Given the description of an element on the screen output the (x, y) to click on. 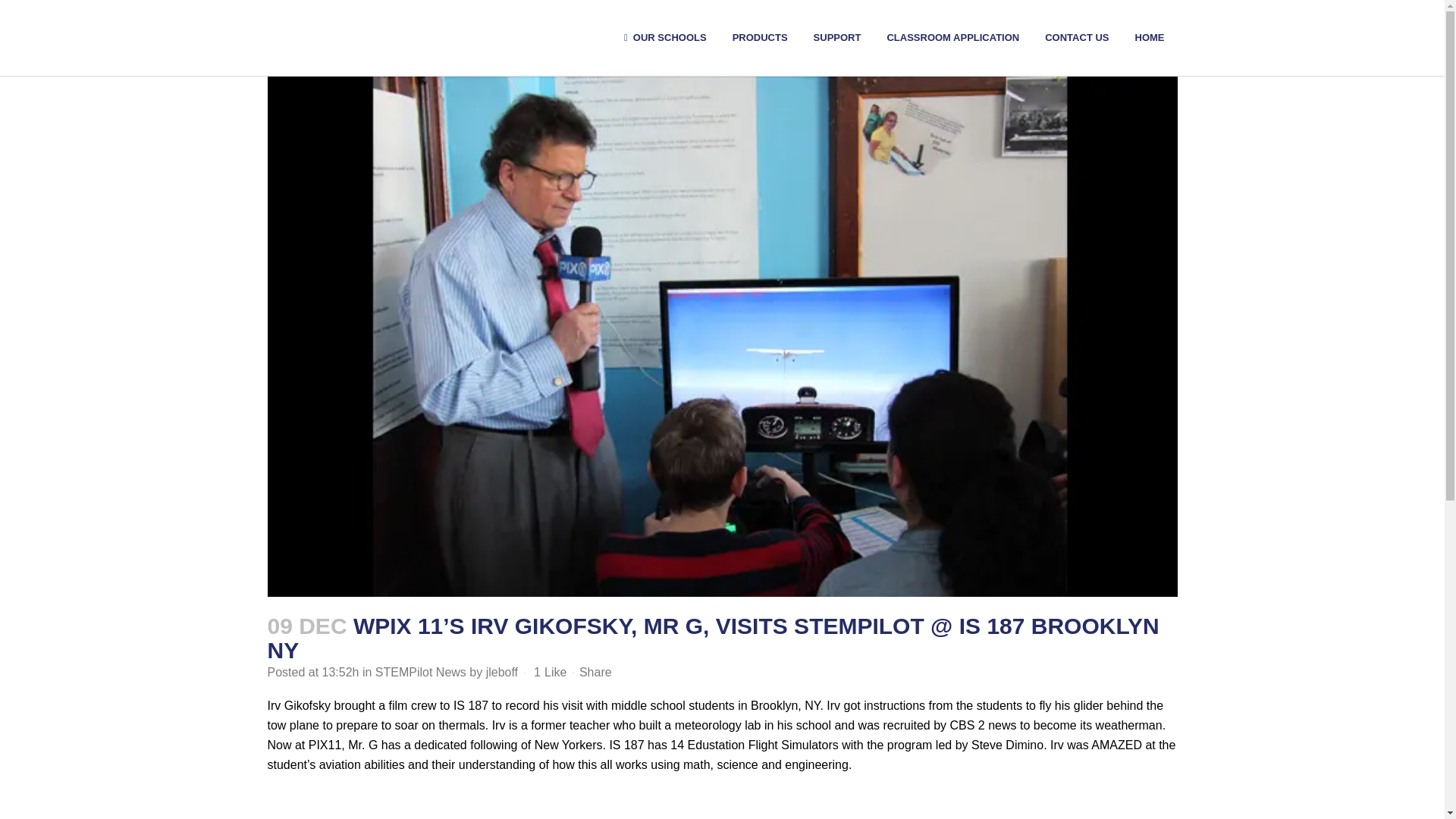
PRODUCTS (759, 38)
jleboff (502, 671)
1 Like (550, 672)
CLASSROOM APPLICATION (952, 38)
Share (595, 671)
Like this (550, 672)
SUPPORT (837, 38)
CONTACT US (1076, 38)
STEMPilot News (420, 671)
OUR SCHOOLS (665, 38)
